Given the description of an element on the screen output the (x, y) to click on. 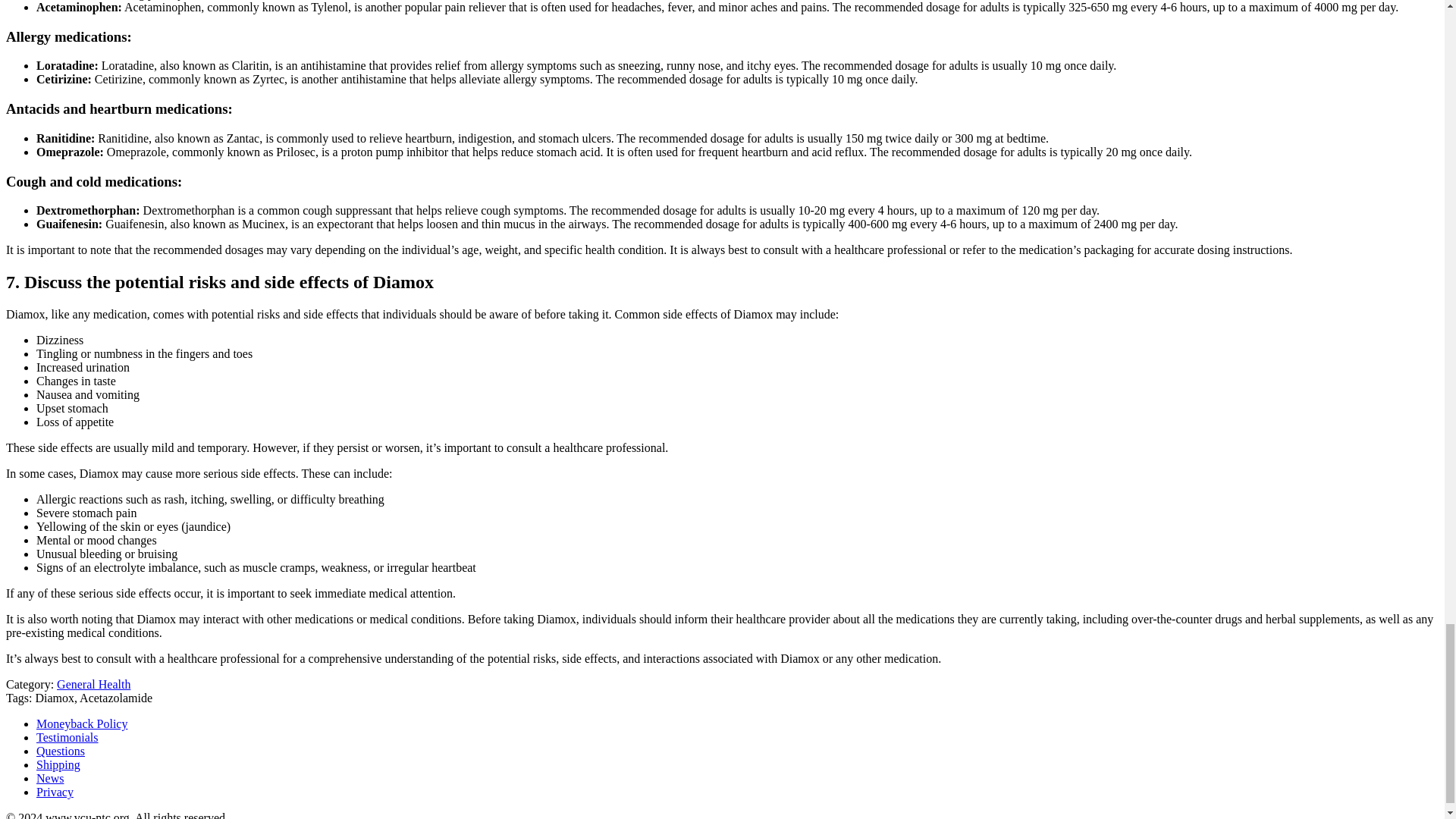
Questions (60, 750)
Privacy (55, 791)
Testimonials (67, 737)
Moneyback Policy (82, 723)
Shipping (58, 764)
General Health (93, 684)
News (50, 778)
